Given the description of an element on the screen output the (x, y) to click on. 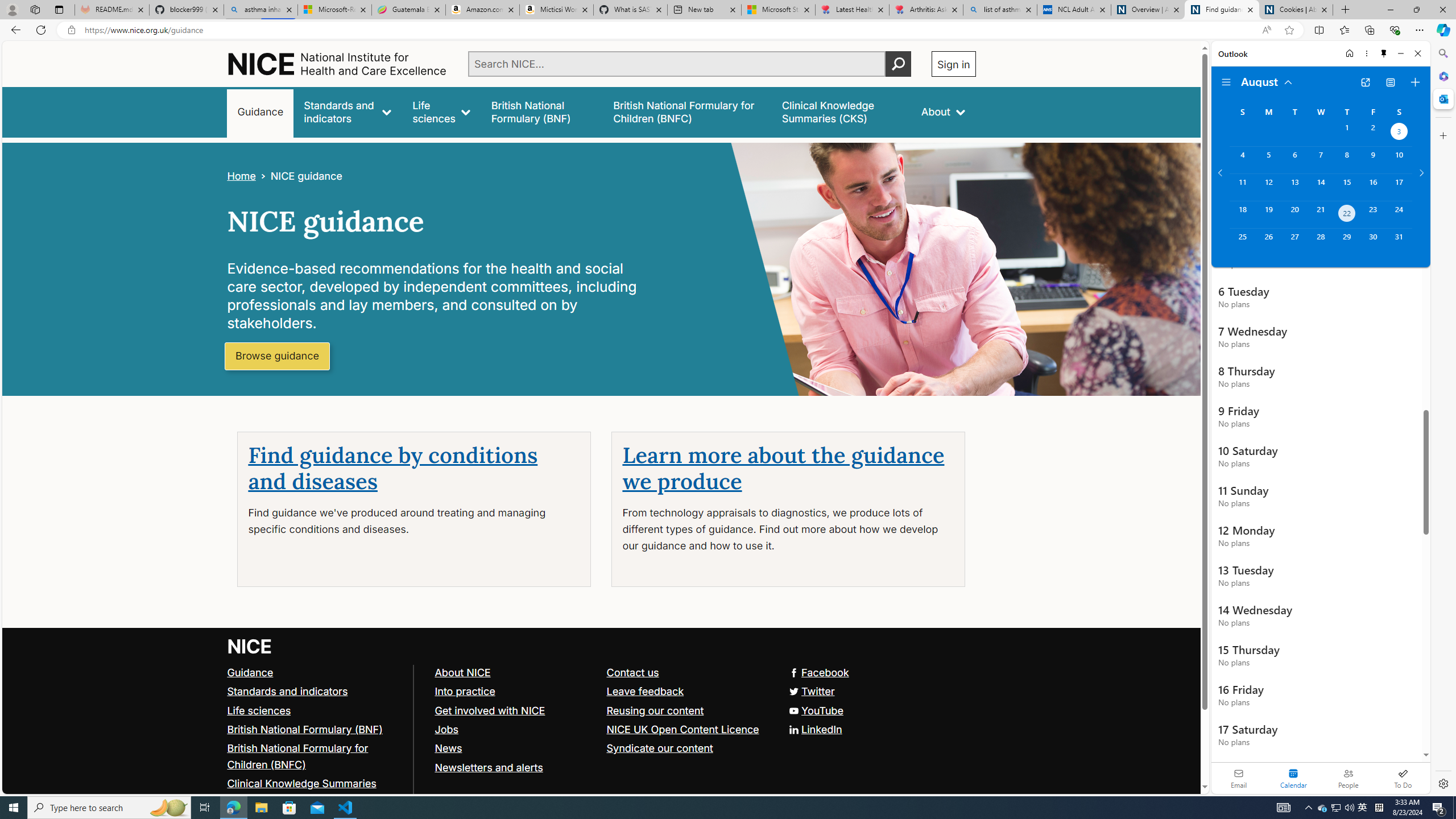
Jobs (445, 729)
YouTube (601, 710)
Microsoft-Report a Concern to Bing (334, 9)
New tab (703, 9)
Monday, August 19, 2024.  (1268, 214)
About (942, 111)
Life sciences (315, 710)
Cookies | About | NICE (1295, 9)
Search (1442, 53)
Saturday, August 10, 2024.  (1399, 159)
Sunday, August 11, 2024.  (1242, 186)
Tuesday, August 27, 2024.  (1294, 241)
